Given the description of an element on the screen output the (x, y) to click on. 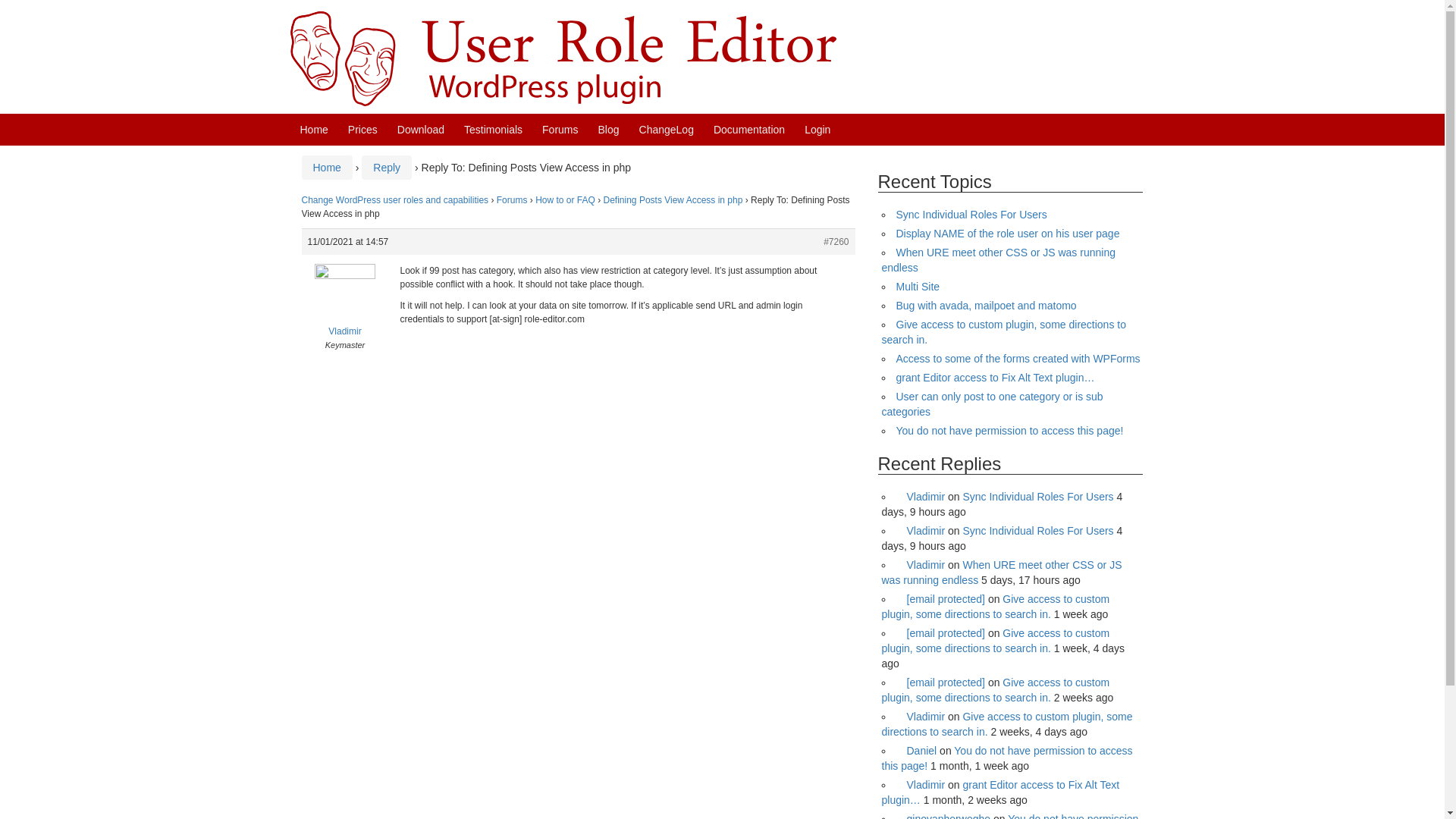
Change WordPress user roles and capabilities (395, 199)
Documentation (748, 129)
View Vladimir's profile (920, 496)
Forums (559, 129)
When URE meet other CSS or JS was running endless (997, 259)
Home (314, 129)
List of changes grouped by versions numbers and update dates (666, 129)
Bug with avada, mailpoet and matomo (986, 305)
Give access to custom plugin, some directions to search in. (1002, 331)
Defining Posts View Access in php (673, 199)
Vladimir (920, 496)
View Vladimir's profile (344, 310)
Testimonials (493, 129)
User can only post to one category or is sub categories (991, 403)
